Given the description of an element on the screen output the (x, y) to click on. 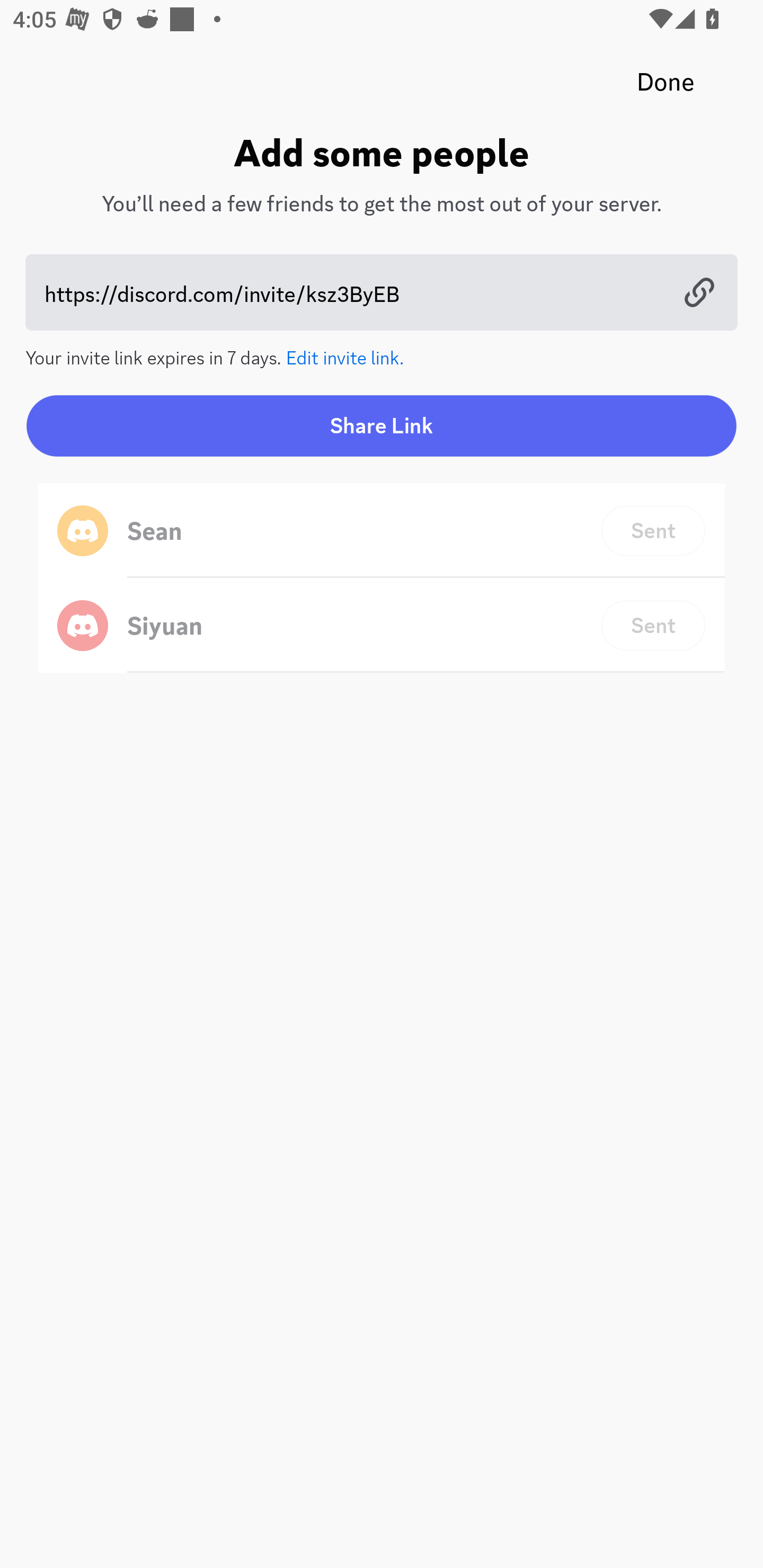
Done (665, 82)
Search (373, 165)
Copy Link https://discord.com/invite/ksz3ByEB (381, 292)
Edit invite link. (345, 355)
Share Link (381, 425)
holiday-plans (text channel) holiday-plans (413, 518)
Siyuan, Sent Siyuan Sent Sent (381, 625)
